Given the description of an element on the screen output the (x, y) to click on. 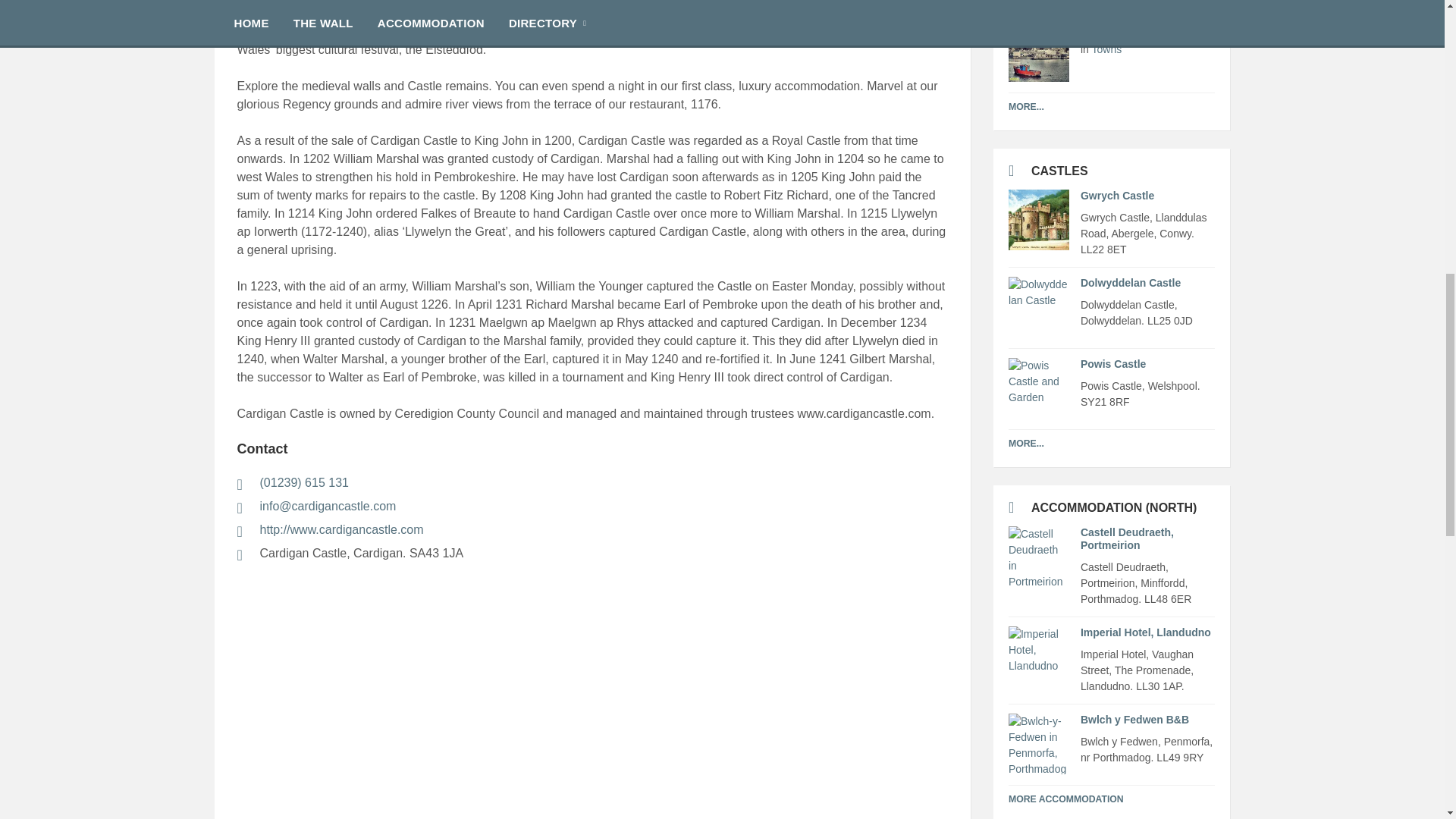
Address (1147, 394)
Address (591, 553)
Address (1147, 670)
Address (1147, 313)
Email (591, 506)
Address (1147, 233)
Website (591, 530)
Address (1147, 583)
Phone (591, 483)
Category (1147, 49)
